Given the description of an element on the screen output the (x, y) to click on. 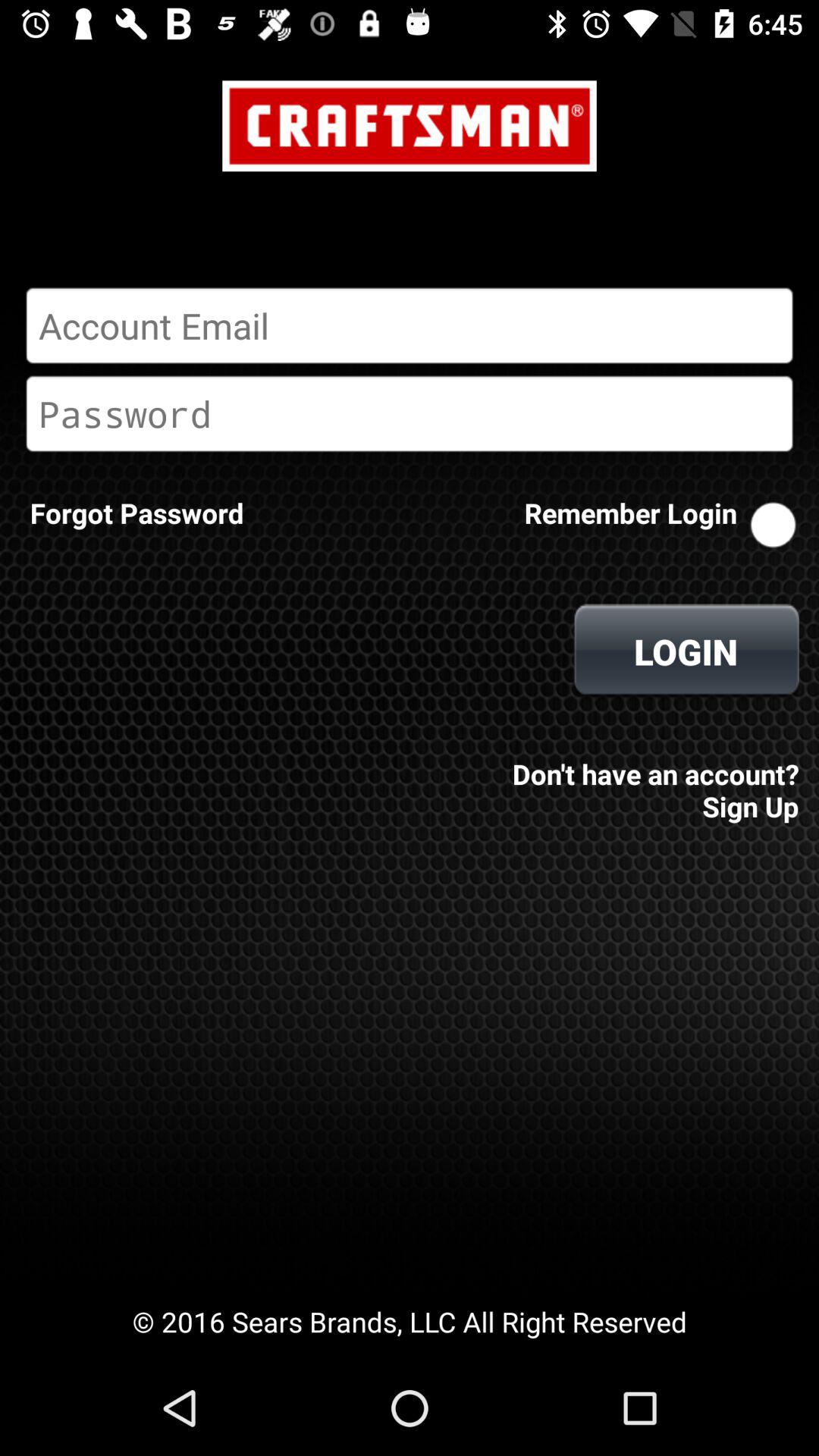
choose the icon above 2016 sears brands icon (651, 780)
